Given the description of an element on the screen output the (x, y) to click on. 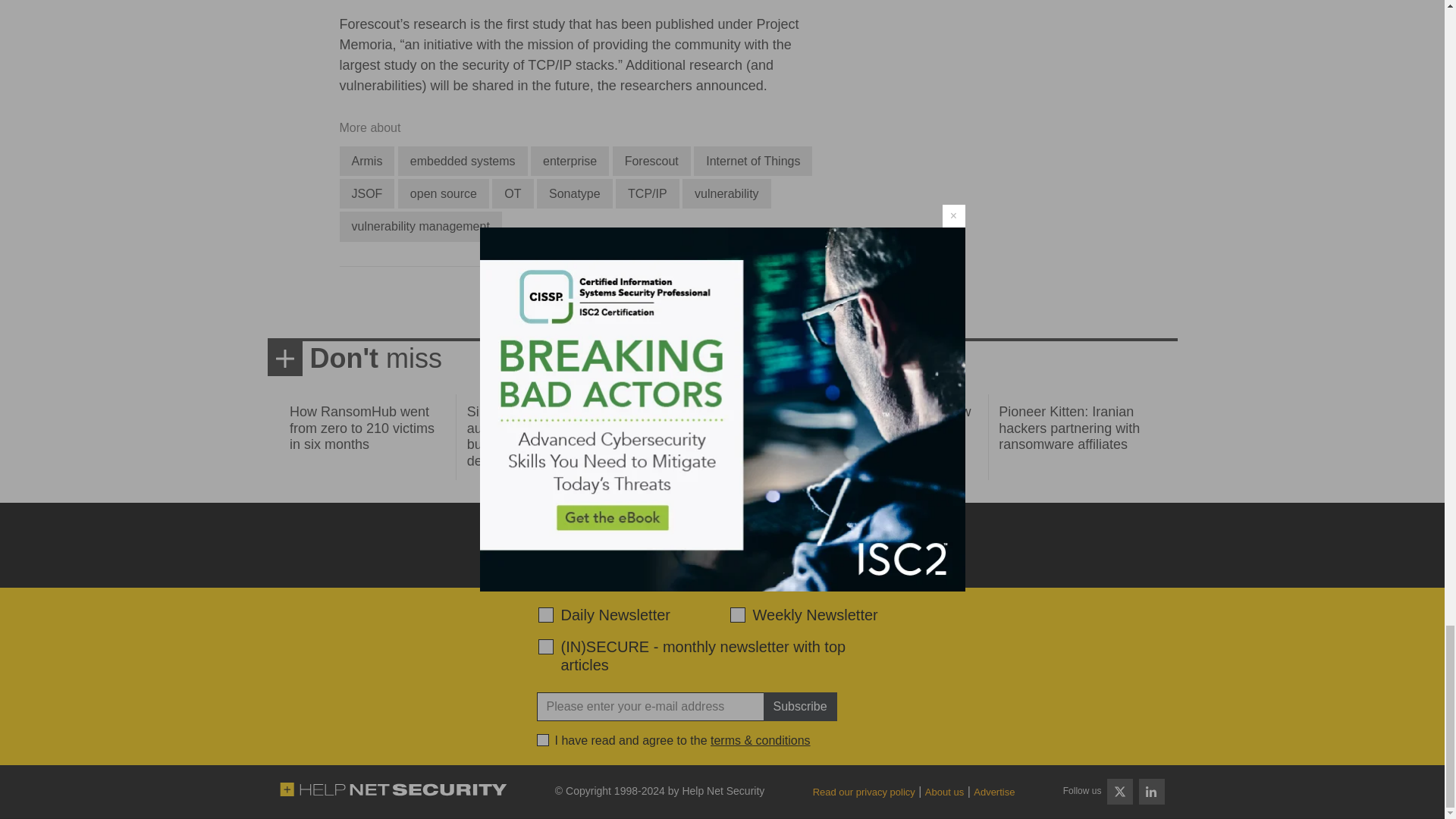
28abe5d9ef (545, 646)
vulnerability management (420, 225)
embedded systems (462, 161)
d2d471aafa (736, 614)
Forescout (651, 161)
enterprise (569, 161)
open source (443, 193)
vulnerability (726, 193)
JSOF (366, 193)
Forescout (651, 161)
